Given the description of an element on the screen output the (x, y) to click on. 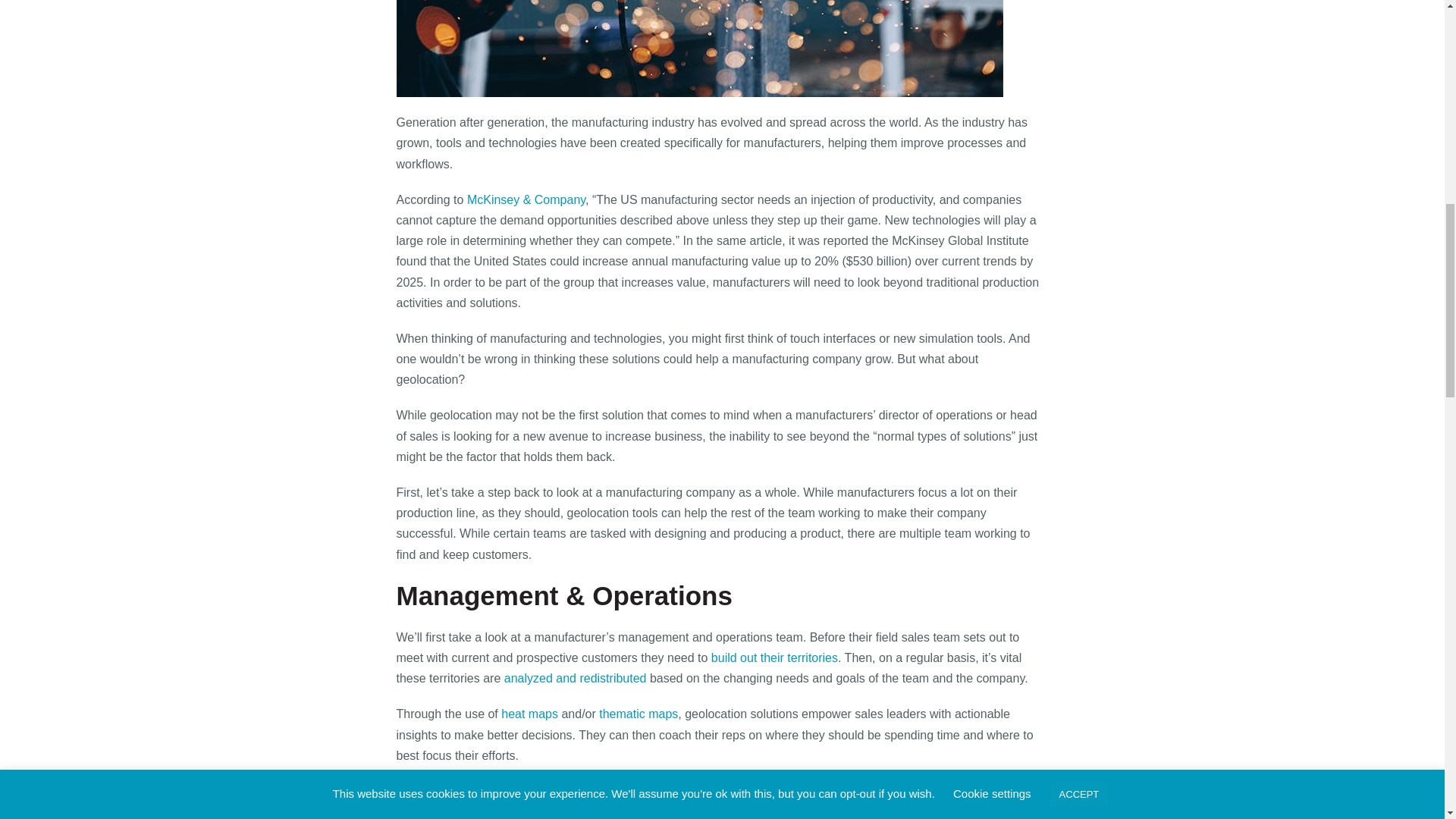
thematic maps (638, 713)
build out their territories (774, 657)
heat maps (528, 713)
analyzed and redistributed (573, 677)
